Given the description of an element on the screen output the (x, y) to click on. 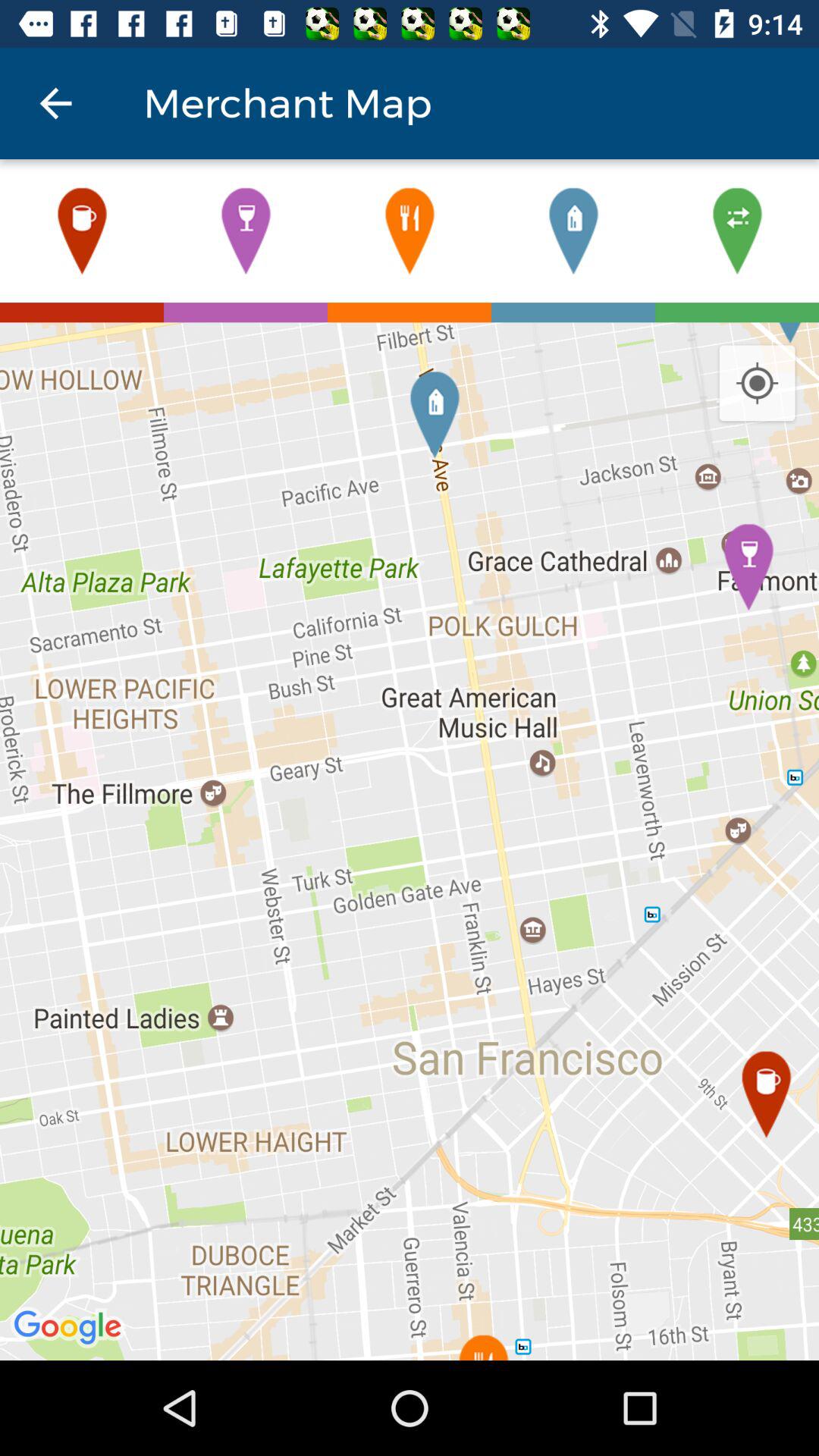
turn off icon to the left of merchant map item (55, 103)
